Given the description of an element on the screen output the (x, y) to click on. 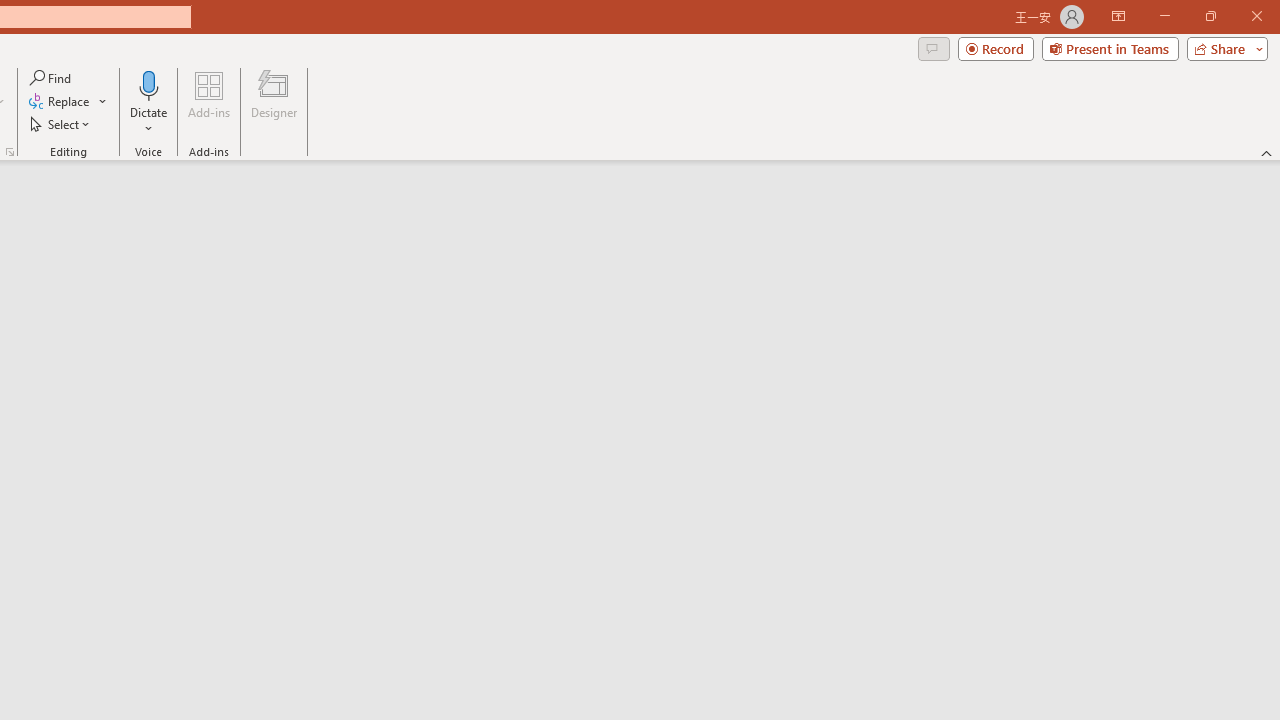
Format Object... (9, 151)
Find... (51, 78)
